Given the description of an element on the screen output the (x, y) to click on. 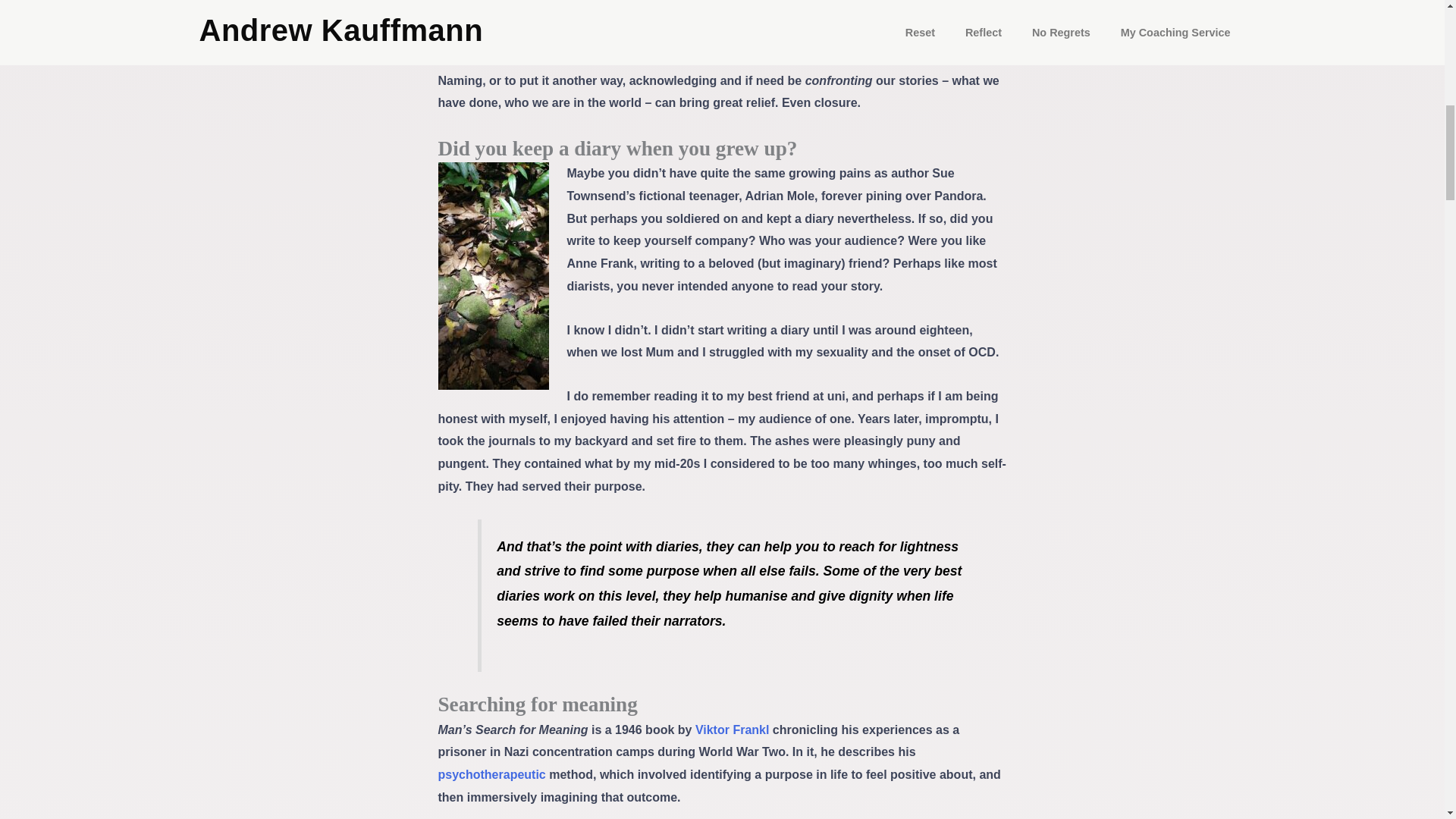
Psychotherapeutic (492, 774)
Viktor Frankl (732, 729)
highlighted (504, 34)
